Given the description of an element on the screen output the (x, y) to click on. 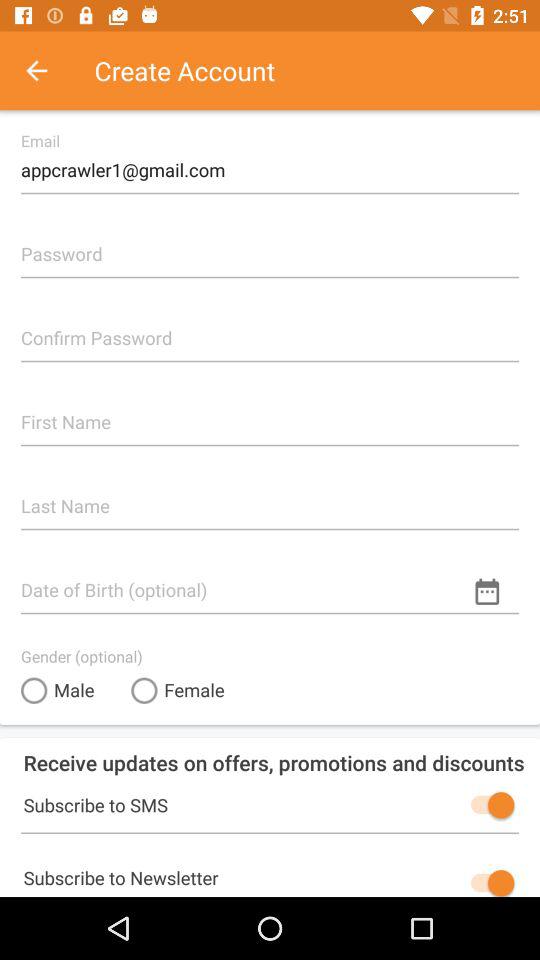
select icon to the left of the create account item (47, 70)
